Given the description of an element on the screen output the (x, y) to click on. 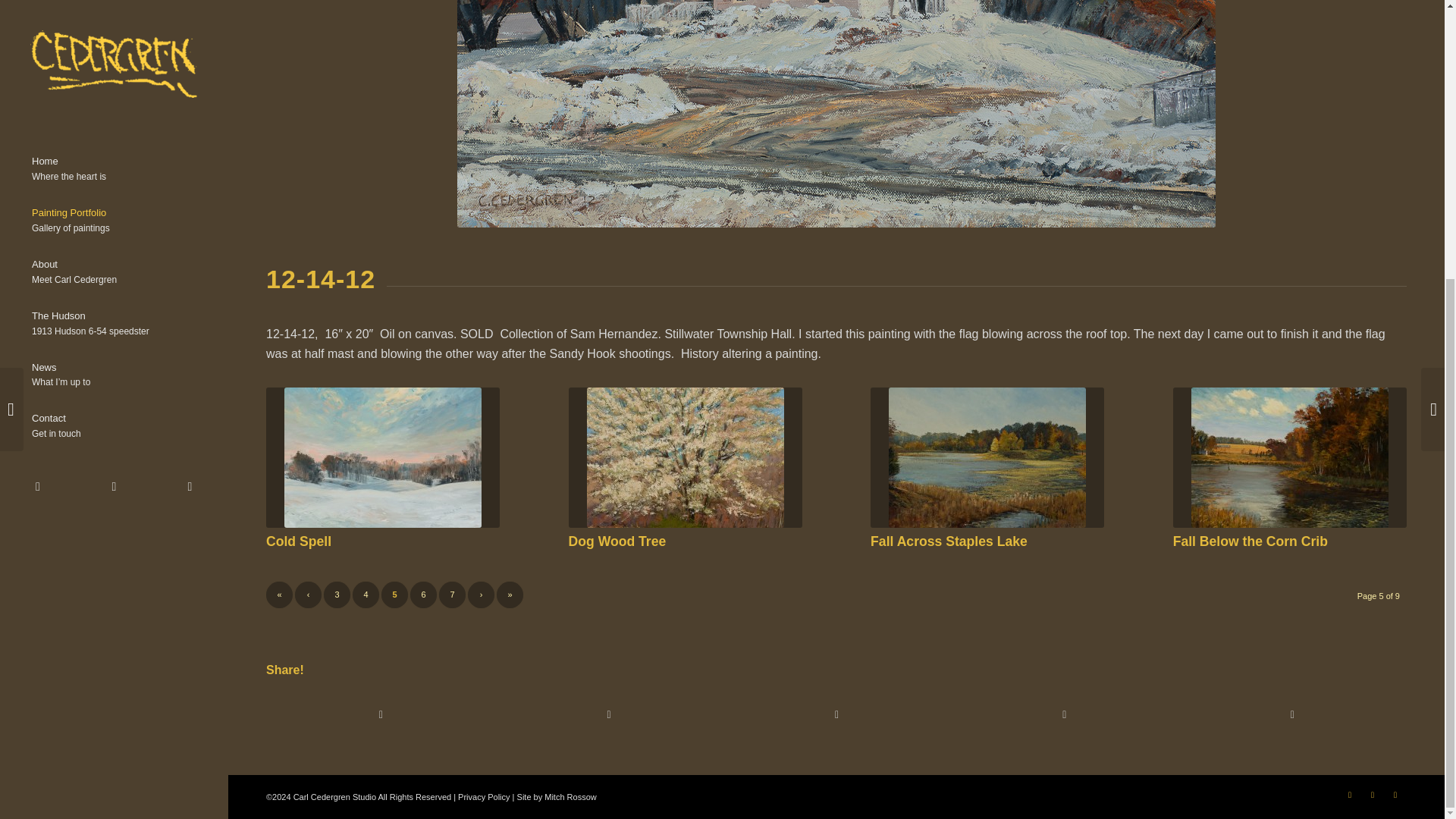
Facebook (37, 71)
Fall Across Staples Lake (986, 457)
4 (365, 594)
Cold Spell (382, 457)
Dog Wood Tree (617, 540)
3 (336, 594)
6 (423, 594)
Cold Spell (113, 18)
Fall Across Staples Lake (298, 540)
